Given the description of an element on the screen output the (x, y) to click on. 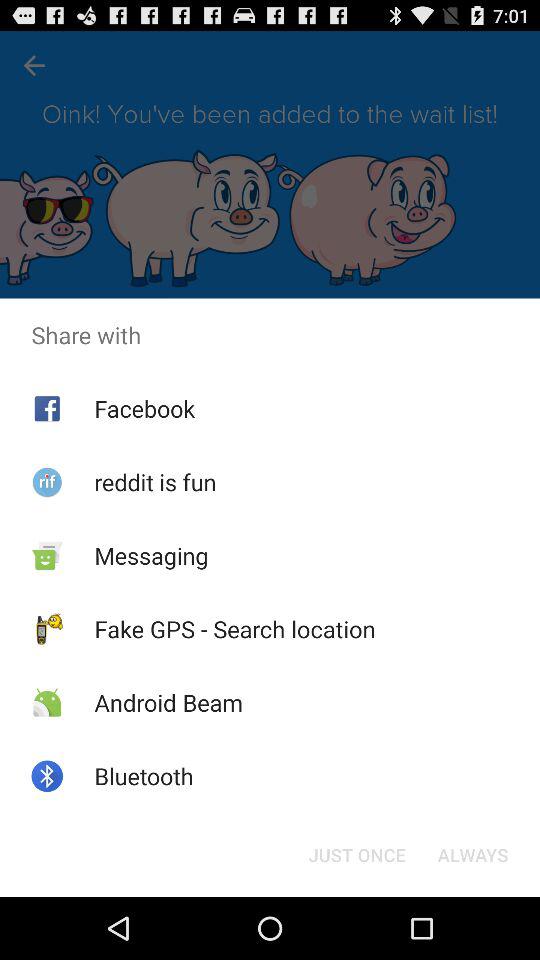
press android beam app (168, 702)
